Given the description of an element on the screen output the (x, y) to click on. 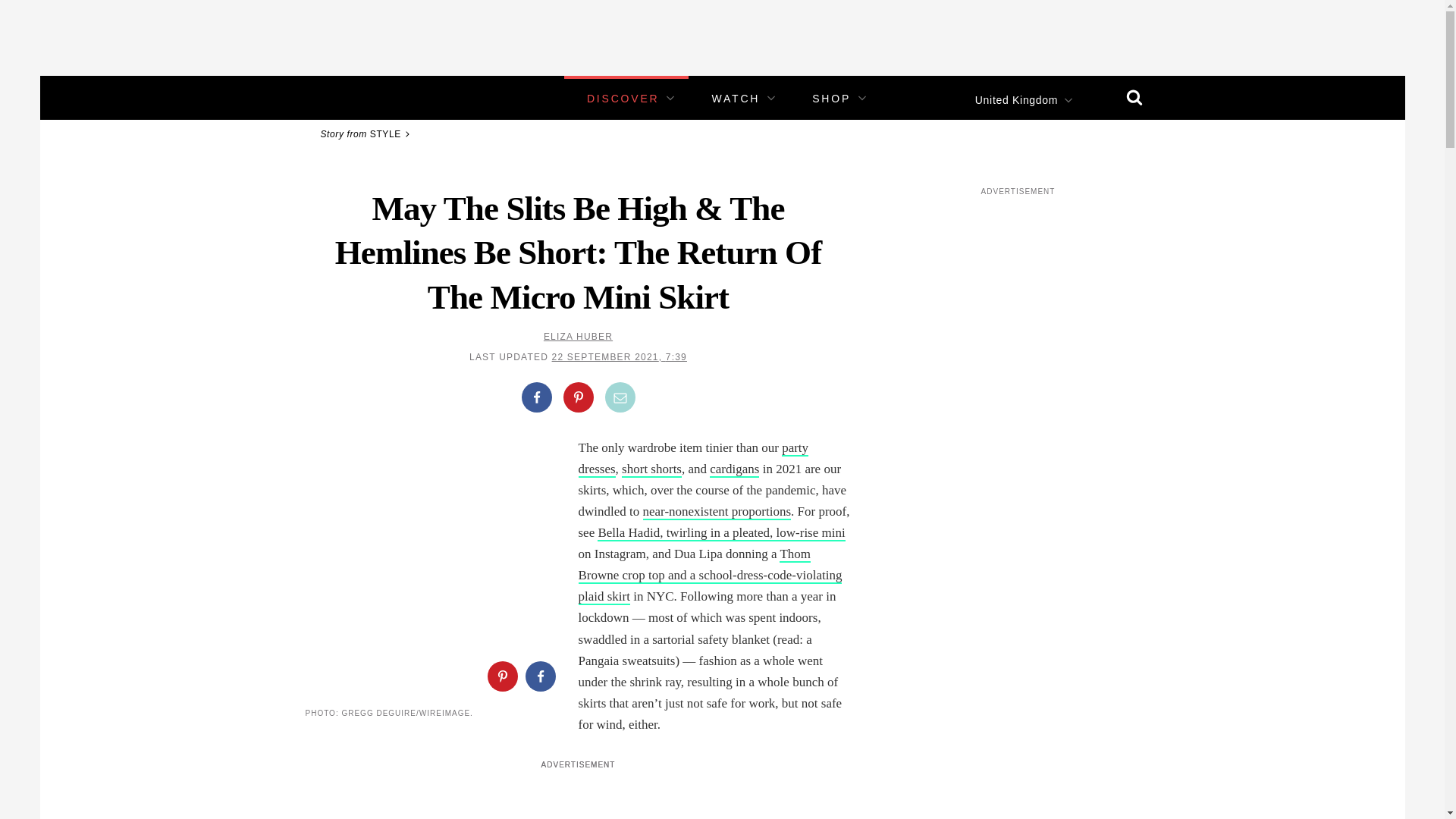
party dresses (693, 458)
Share on Pinterest (577, 397)
Share on Pinterest (501, 675)
near-nonexistent proportions (717, 512)
WATCH (735, 98)
SHOP (831, 98)
Bella Hadid, twirling in a pleated, low-rise mini (720, 533)
Share by Email (619, 397)
Story from STYLE (366, 133)
22 SEPTEMBER 2021, 7:39 (619, 357)
